Given the description of an element on the screen output the (x, y) to click on. 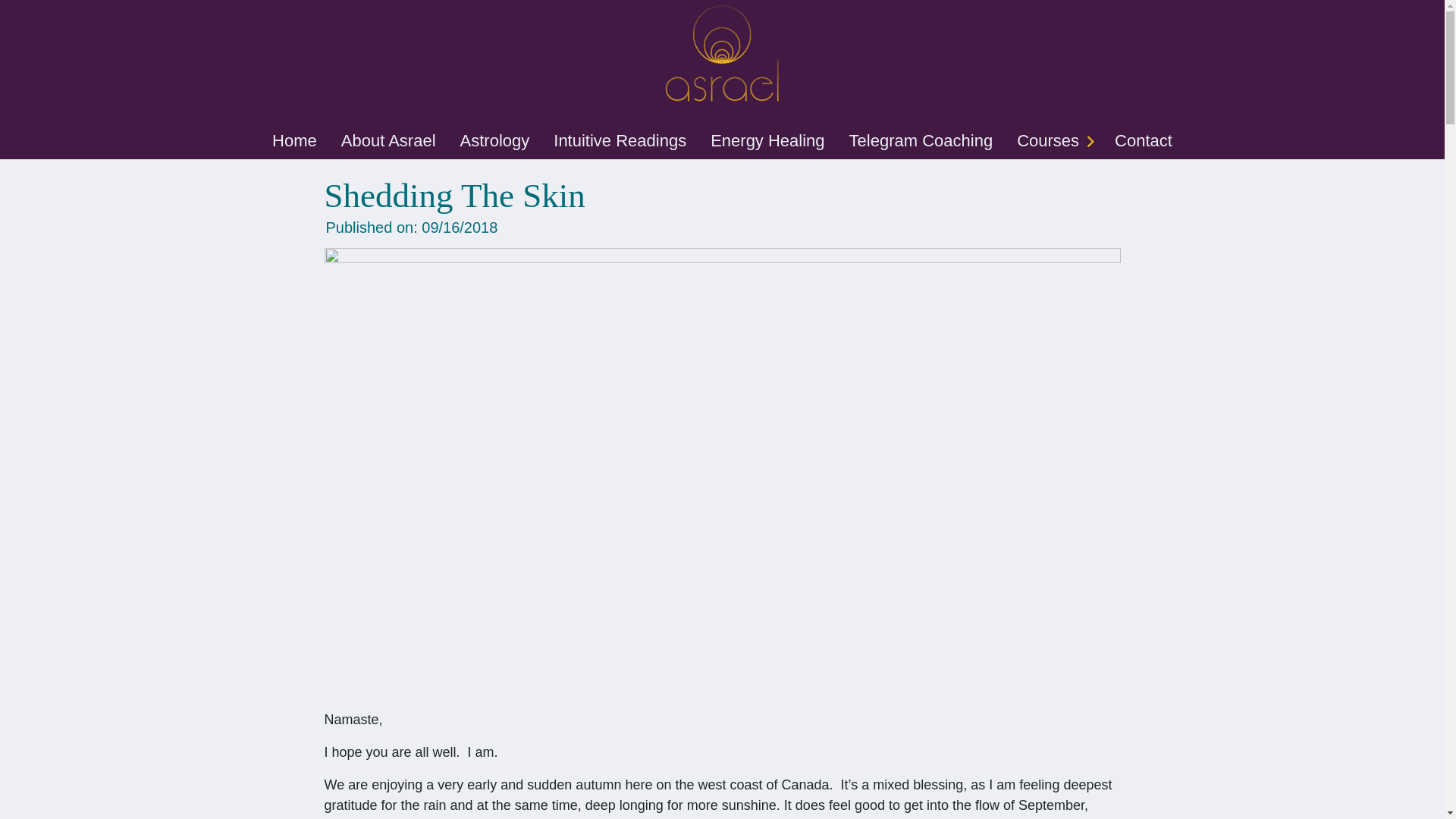
About Asrael (388, 140)
Home (294, 140)
Contact (1143, 140)
Energy Healing (766, 140)
Courses (1047, 140)
Telegram Coaching (921, 140)
Intuitive Readings (619, 140)
Astrology (494, 140)
